Given the description of an element on the screen output the (x, y) to click on. 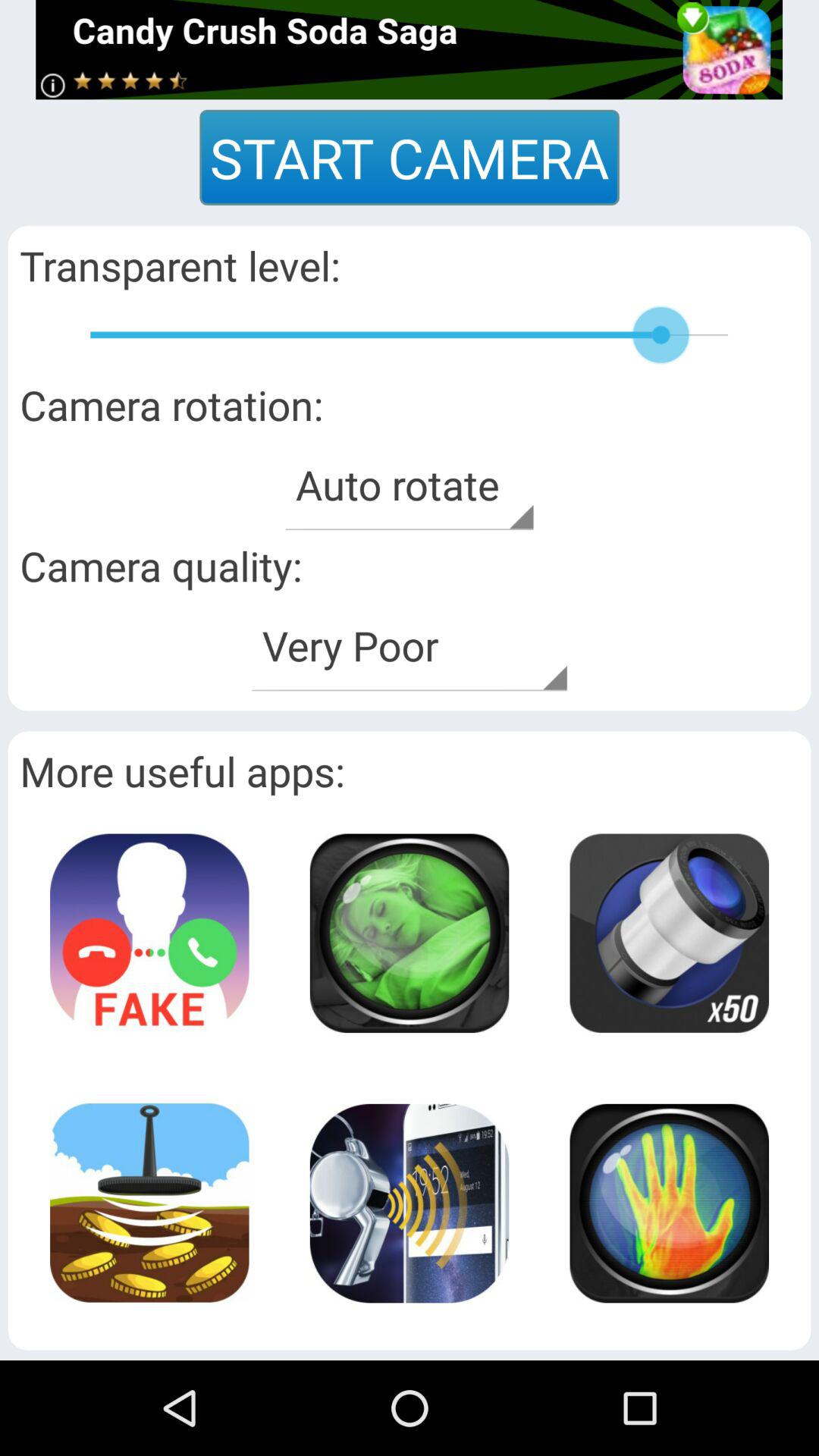
image page (408, 1202)
